Given the description of an element on the screen output the (x, y) to click on. 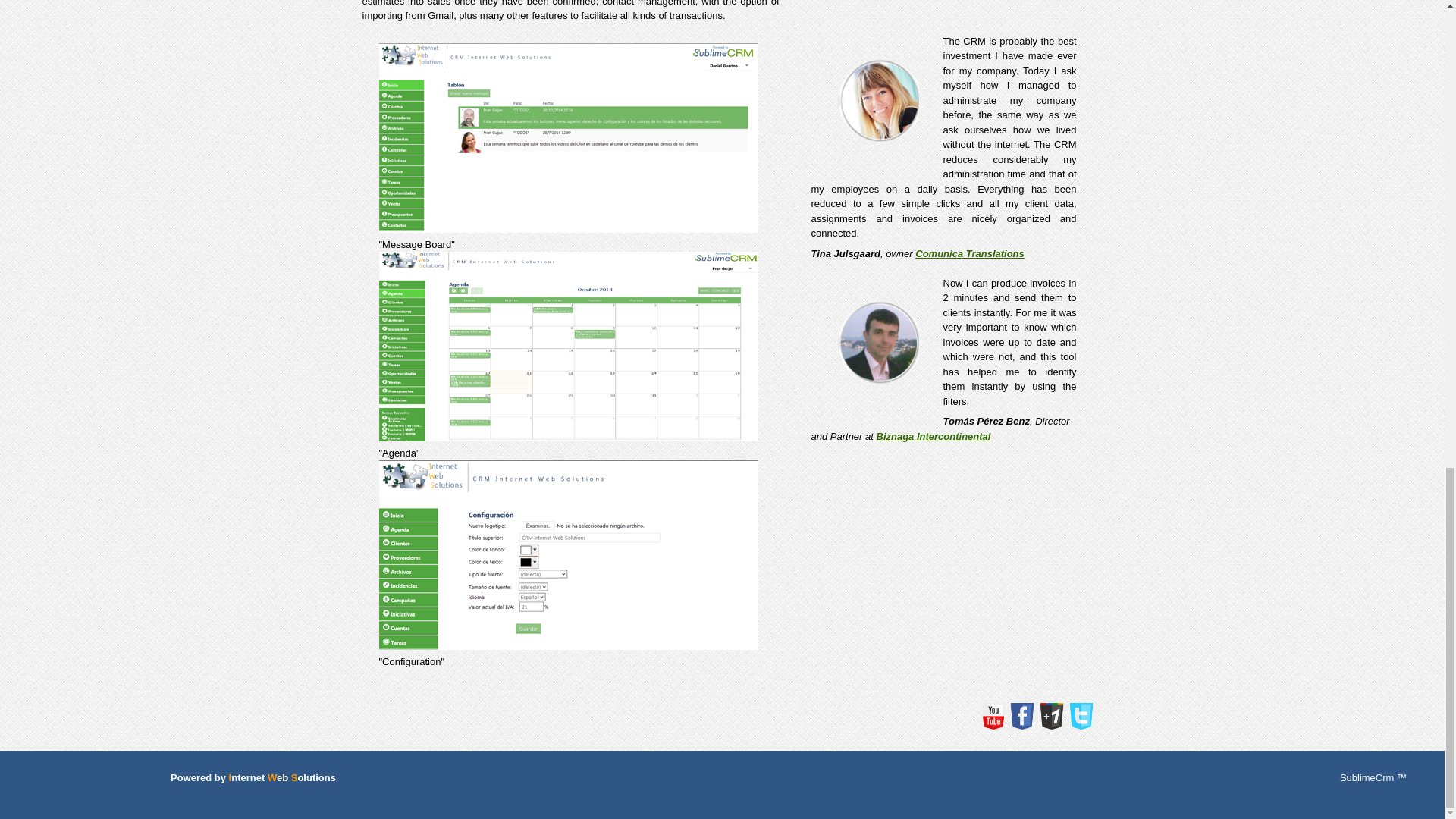
Sublime Customer Relationship Management CRM Solutions (568, 555)
Facebook Sublime CRM Solutions (1022, 715)
Twitter Sublime CRM Solutions (1080, 715)
Powered by Internet Web Solutions (253, 777)
Sublime Customer Relationship Management CRM Solutions (568, 346)
Sublime Customer Relationship Management CRM Solutions (568, 137)
Biznaga Intercontinental (933, 436)
Tina Julsgaard (876, 99)
Comunica Translations (970, 253)
Youtube Sublime CRM Solutions (992, 715)
